Given the description of an element on the screen output the (x, y) to click on. 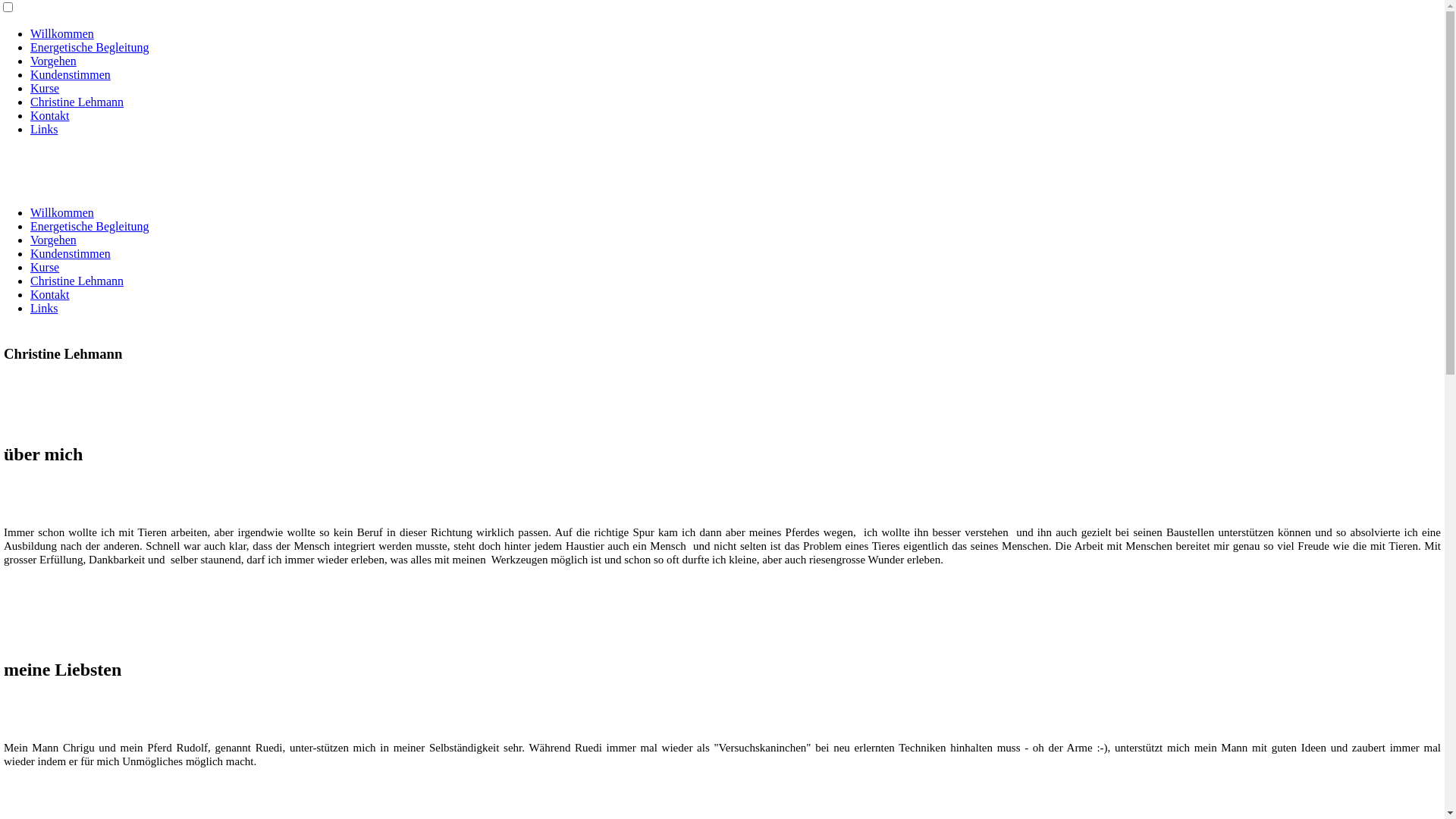
Links Element type: text (43, 128)
Kurse Element type: text (44, 87)
Christine Lehmann Element type: text (76, 280)
Kundenstimmen Element type: text (70, 253)
Kontakt Element type: text (49, 115)
Kurse Element type: text (44, 266)
Willkommen Element type: text (62, 212)
Kontakt Element type: text (49, 294)
Energetische Begleitung Element type: text (89, 46)
Energetische Begleitung Element type: text (89, 225)
Vorgehen Element type: text (53, 239)
Links Element type: text (43, 307)
Vorgehen Element type: text (53, 60)
Christine Lehmann Element type: text (76, 101)
Kundenstimmen Element type: text (70, 74)
Willkommen Element type: text (62, 33)
